Given the description of an element on the screen output the (x, y) to click on. 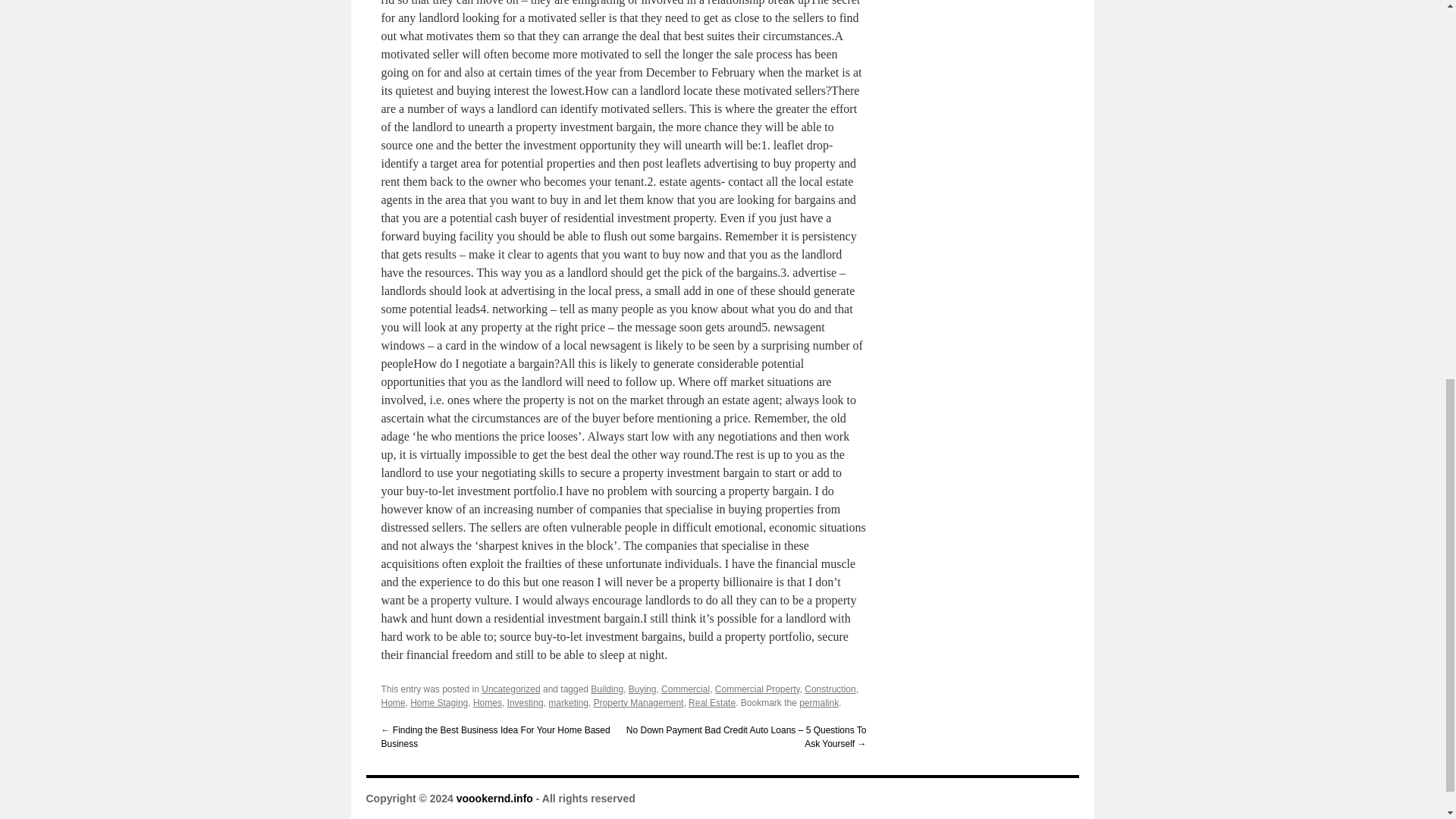
Construction (830, 688)
Homes (487, 702)
permalink (818, 702)
Real Estate (711, 702)
marketing (568, 702)
voookernd.info (494, 798)
Property Management (639, 702)
Home (392, 702)
Investing (524, 702)
View all posts in Uncategorized (510, 688)
Uncategorized (510, 688)
Commercial (685, 688)
voookernd.info (494, 798)
Buying (642, 688)
